Given the description of an element on the screen output the (x, y) to click on. 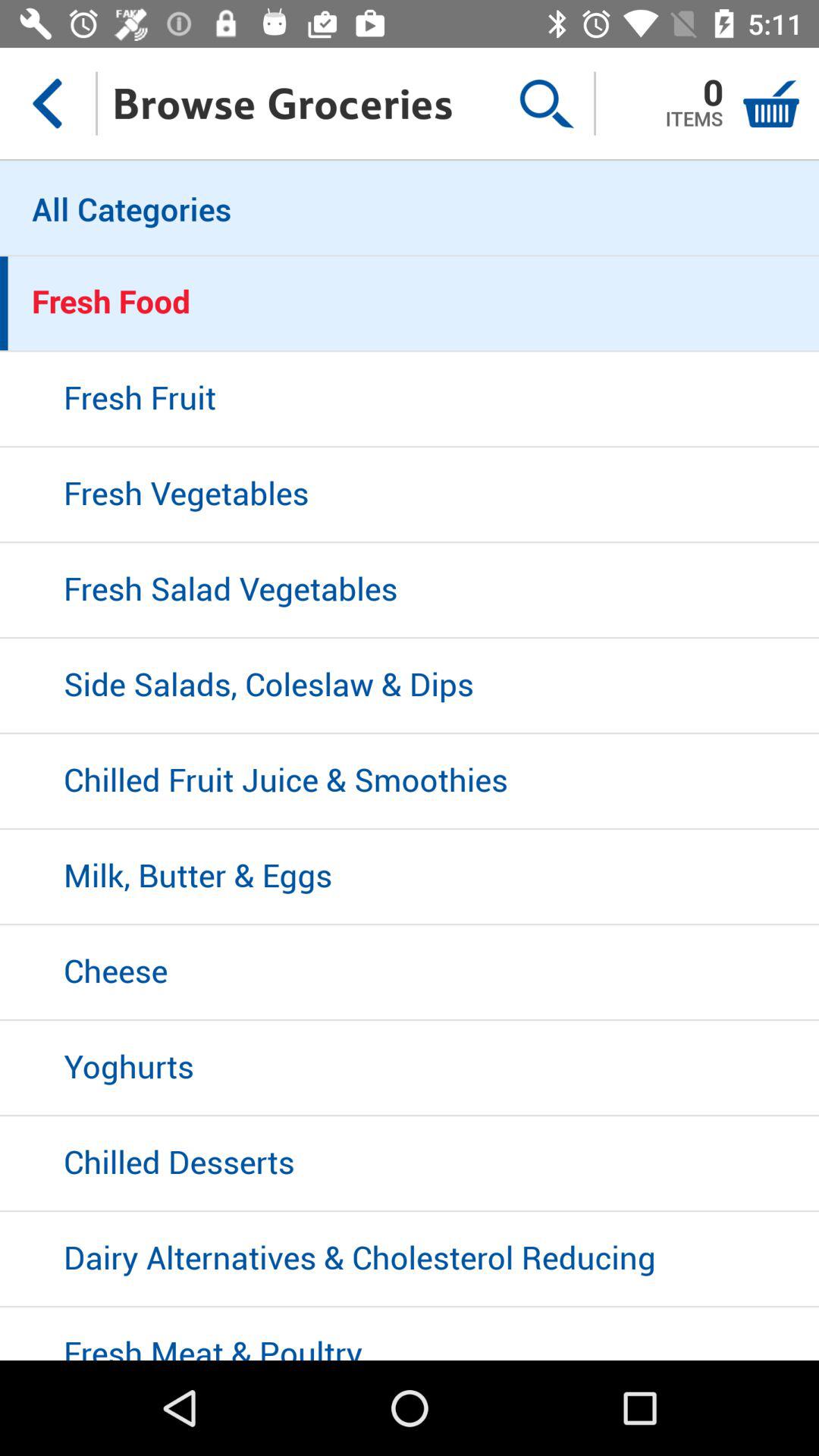
scroll to cheese icon (409, 972)
